Given the description of an element on the screen output the (x, y) to click on. 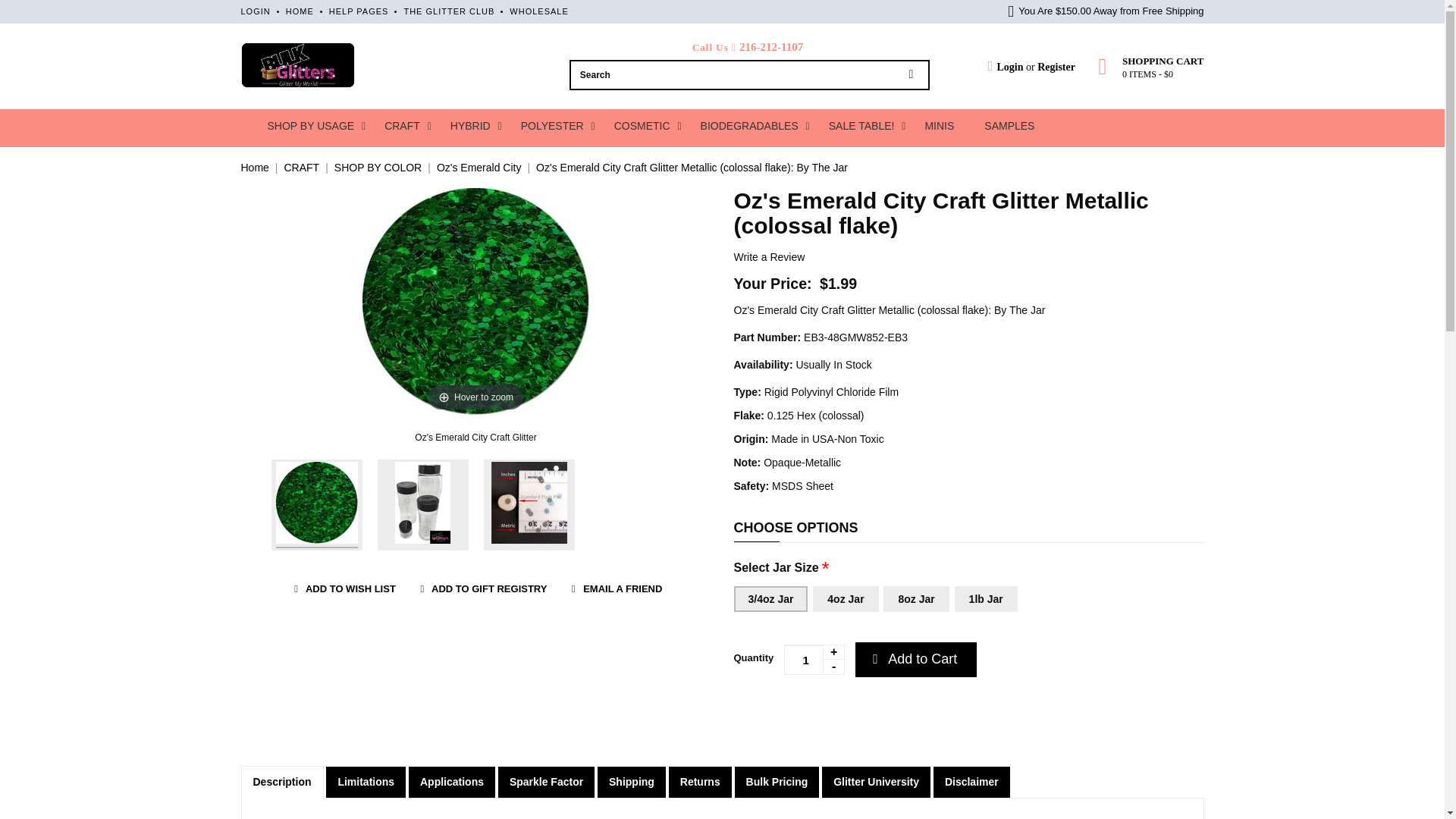
Oz's Emerald City Craft Glitter  (316, 504)
1lb Jar (986, 598)
THE GLITTER CLUB (449, 11)
216-212-1107 (771, 46)
Register (1055, 67)
HELP PAGES (358, 11)
8oz Jar (916, 598)
HOME (299, 11)
SHOP BY USAGE (310, 125)
4oz Jar (844, 598)
Login (1005, 67)
1 (814, 659)
Oz's Emerald City Craft Glitter  (476, 437)
LOGIN (255, 11)
WHOLESALE (538, 11)
